Given the description of an element on the screen output the (x, y) to click on. 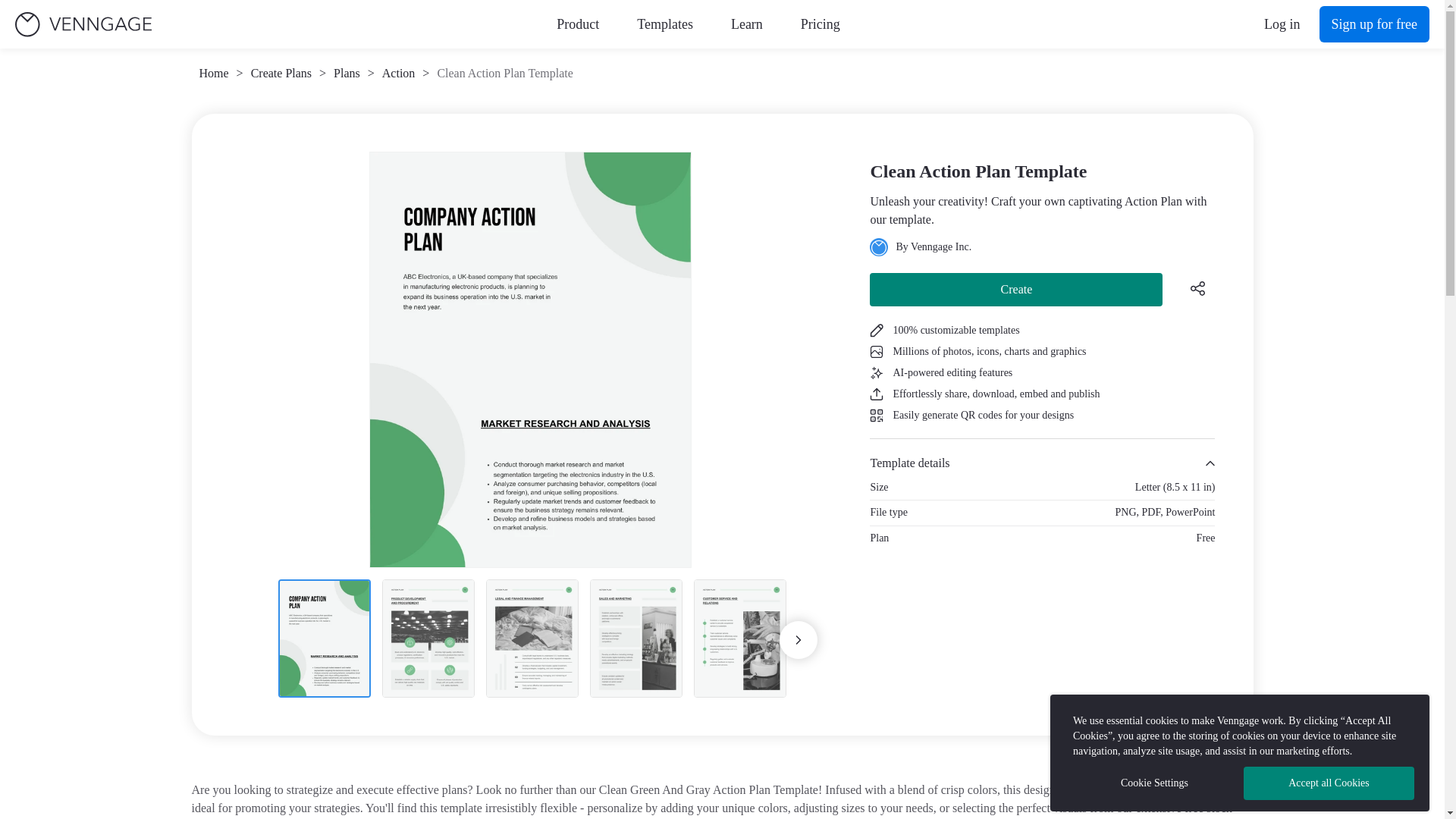
Product (577, 23)
Create (1015, 289)
Plans (346, 73)
Create Plans (280, 73)
Learn (746, 23)
Templates (664, 23)
Log in (1281, 24)
Pricing (820, 23)
Action (397, 73)
Venngage Home page (82, 24)
